Given the description of an element on the screen output the (x, y) to click on. 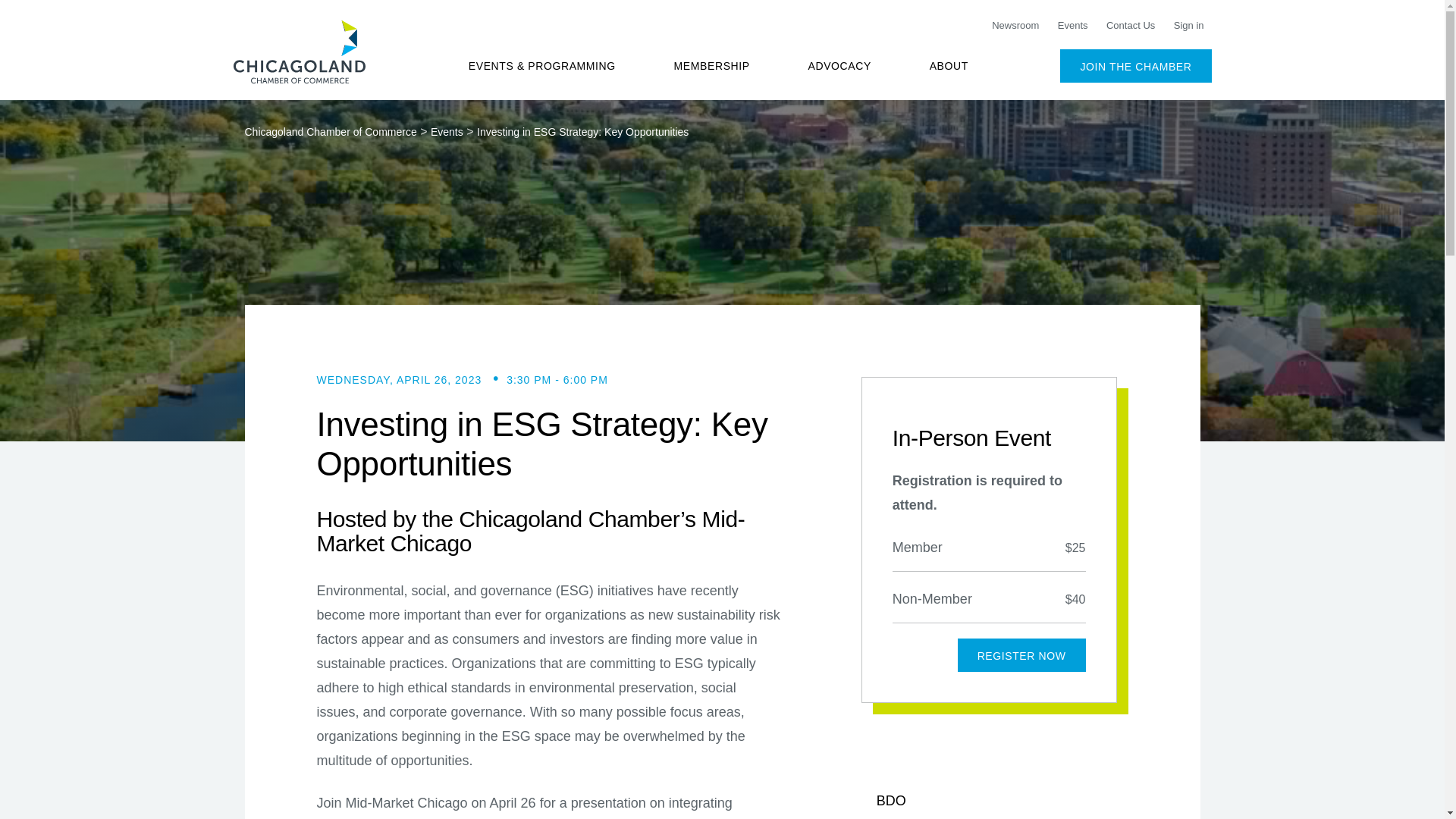
Events (1072, 25)
Contact Us (1130, 25)
Search (1154, 65)
Sign in (1188, 25)
Go to Chicagoland Chamber of Commerce. (330, 132)
Newsroom (1015, 25)
MEMBERSHIP (711, 65)
Go to Events. (446, 132)
